Given the description of an element on the screen output the (x, y) to click on. 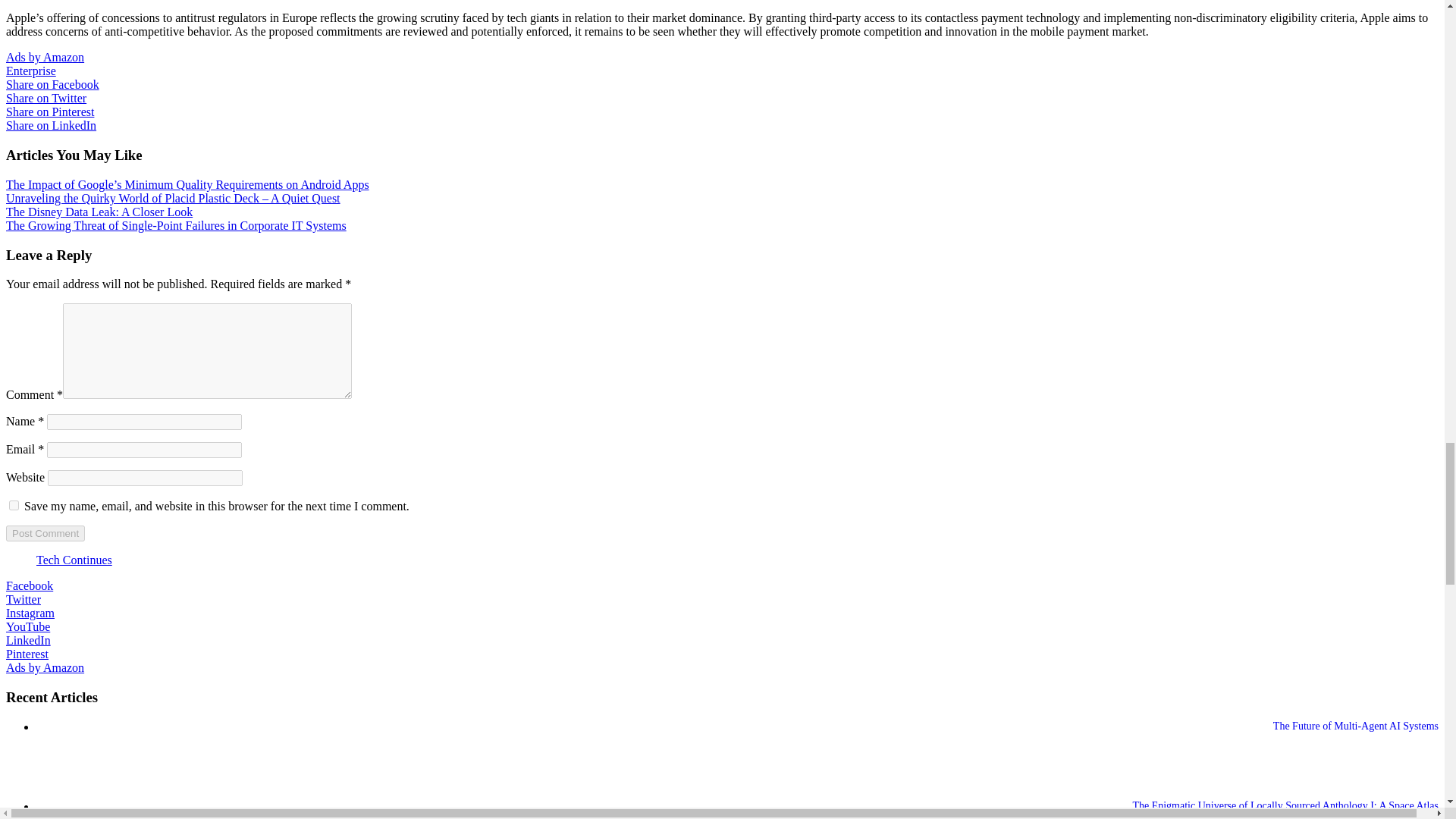
Post Comment (44, 533)
yes (13, 505)
Enterprise (30, 70)
